Given the description of an element on the screen output the (x, y) to click on. 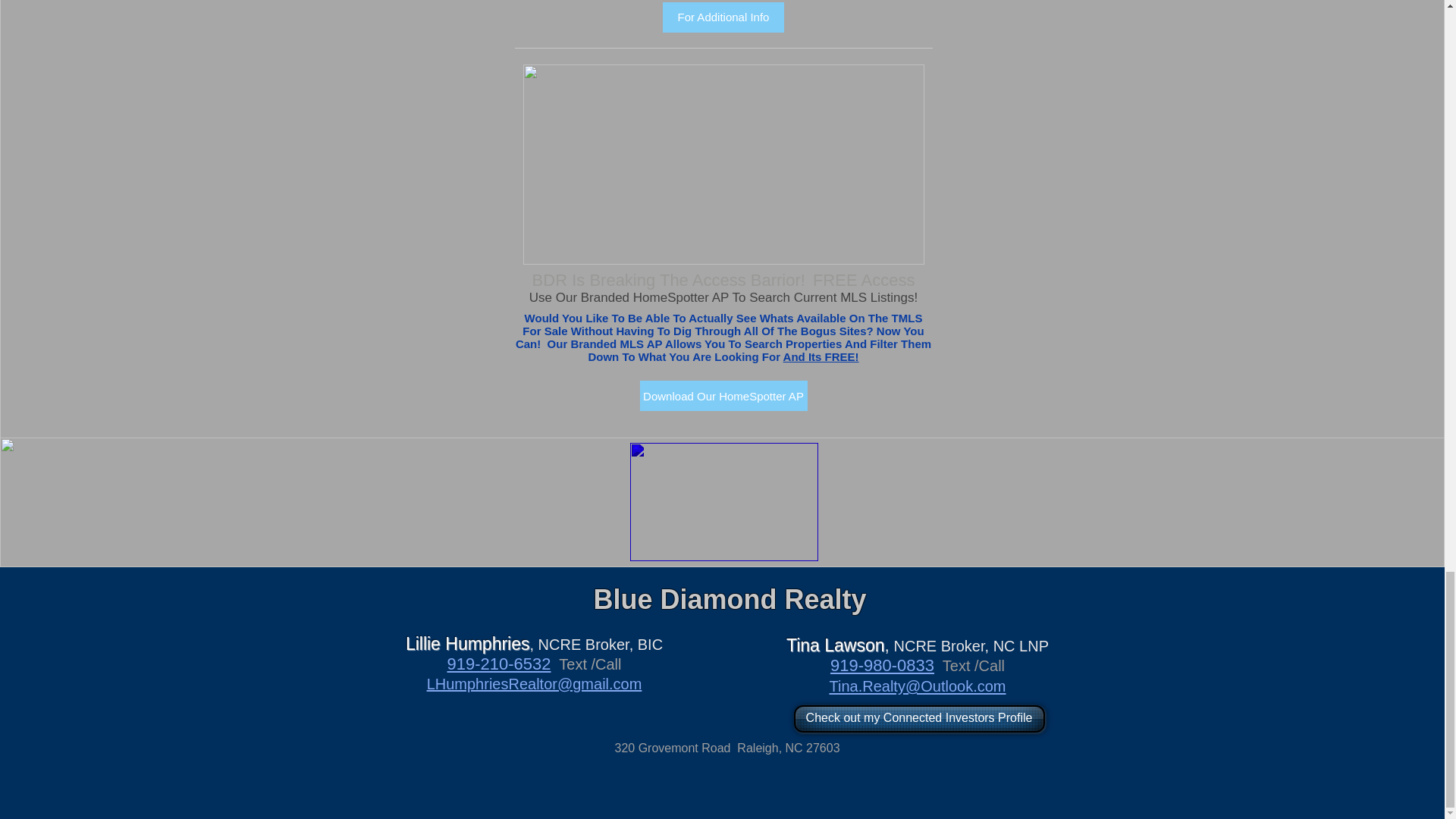
919-210-6532 (498, 664)
Check out my Connected Investors Profile (918, 718)
For Additional Info (723, 17)
919-980-0833 (881, 665)
sparkling-diamond-bling-animated-gif-17.gif (723, 164)
BDR Is Breaking The Access Barrior! (668, 280)
Download Our HomeSpotter AP (724, 395)
